Given the description of an element on the screen output the (x, y) to click on. 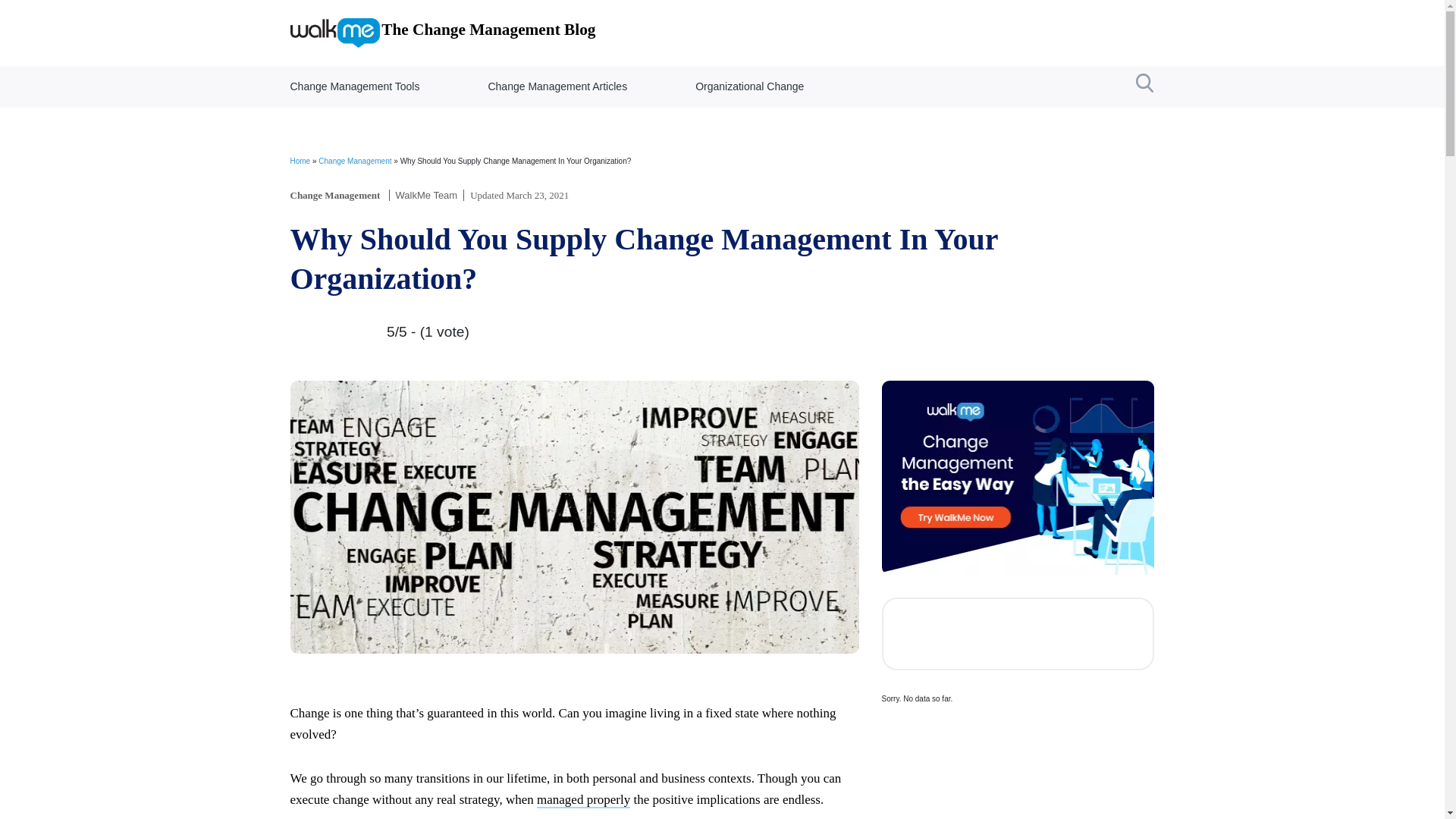
youtube (1114, 633)
The Change Management Blog (442, 31)
WalkMe Team (427, 194)
managed properly (583, 800)
Change Management Tools (355, 86)
instagram (1017, 633)
Organizational Change (749, 86)
Change Management (334, 194)
facebook (920, 633)
twitter (968, 633)
Change Management Articles (556, 86)
linkedin (1066, 633)
Home (299, 161)
The Change Management Blog (442, 31)
Change Management (354, 161)
